Given the description of an element on the screen output the (x, y) to click on. 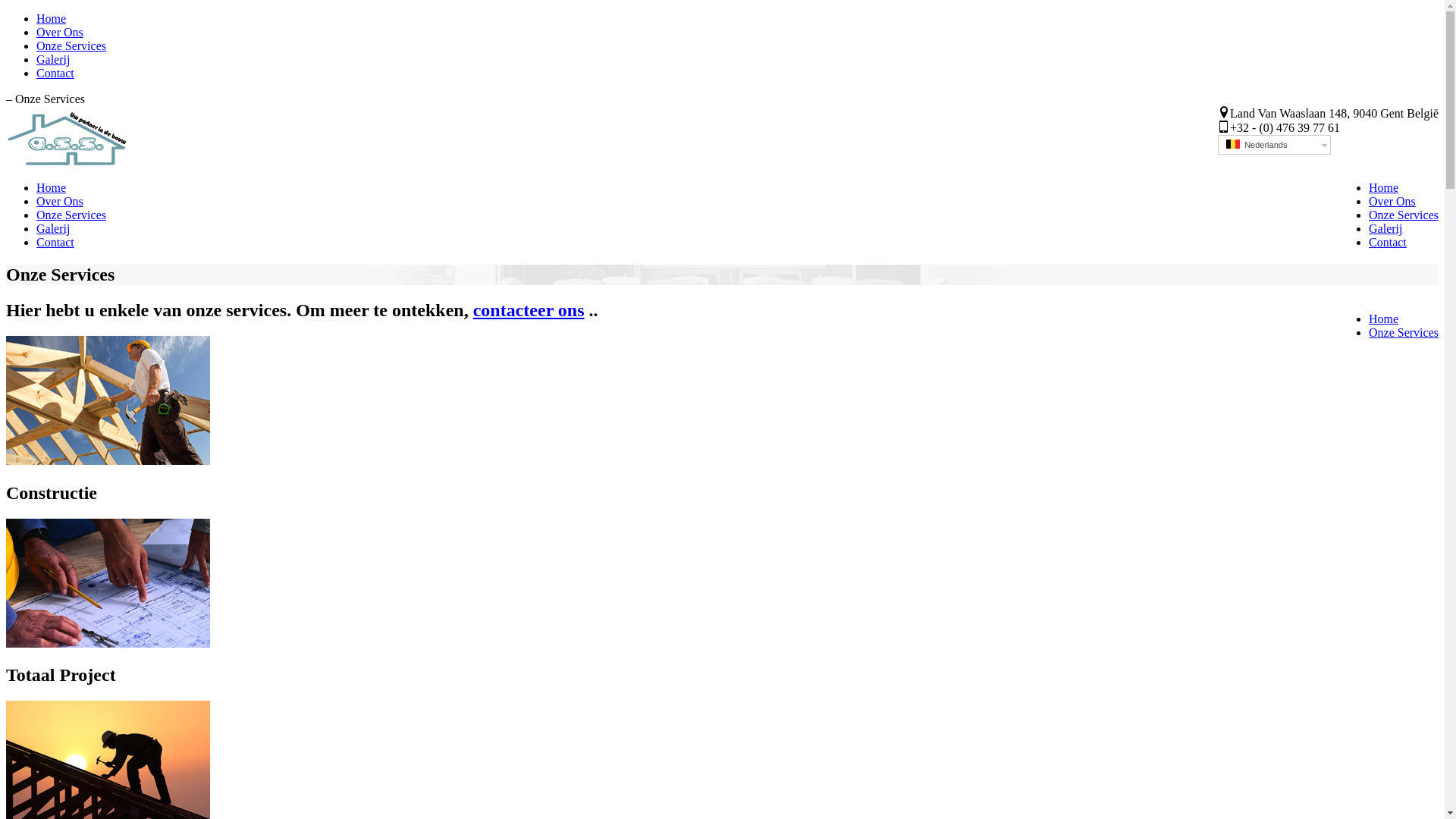
Galerij Element type: text (1385, 228)
Home Element type: text (1383, 318)
Over Ons Element type: text (59, 200)
contacteer ons Element type: text (528, 310)
Onze Services Element type: text (1403, 214)
Contact Element type: text (55, 72)
Nederlands Element type: hover (1232, 143)
Galerij Element type: text (52, 228)
Home Element type: text (50, 187)
Over Ons Element type: text (59, 31)
Over Ons Element type: text (1391, 200)
Home Element type: text (50, 18)
Home Element type: text (1383, 187)
Onze Services Element type: text (1403, 332)
Contact Element type: text (55, 241)
Onze Services Element type: text (71, 214)
Onze Services Element type: text (71, 45)
  Nederlands Element type: text (1273, 144)
Contact Element type: text (1387, 241)
Galerij Element type: text (52, 59)
